Given the description of an element on the screen output the (x, y) to click on. 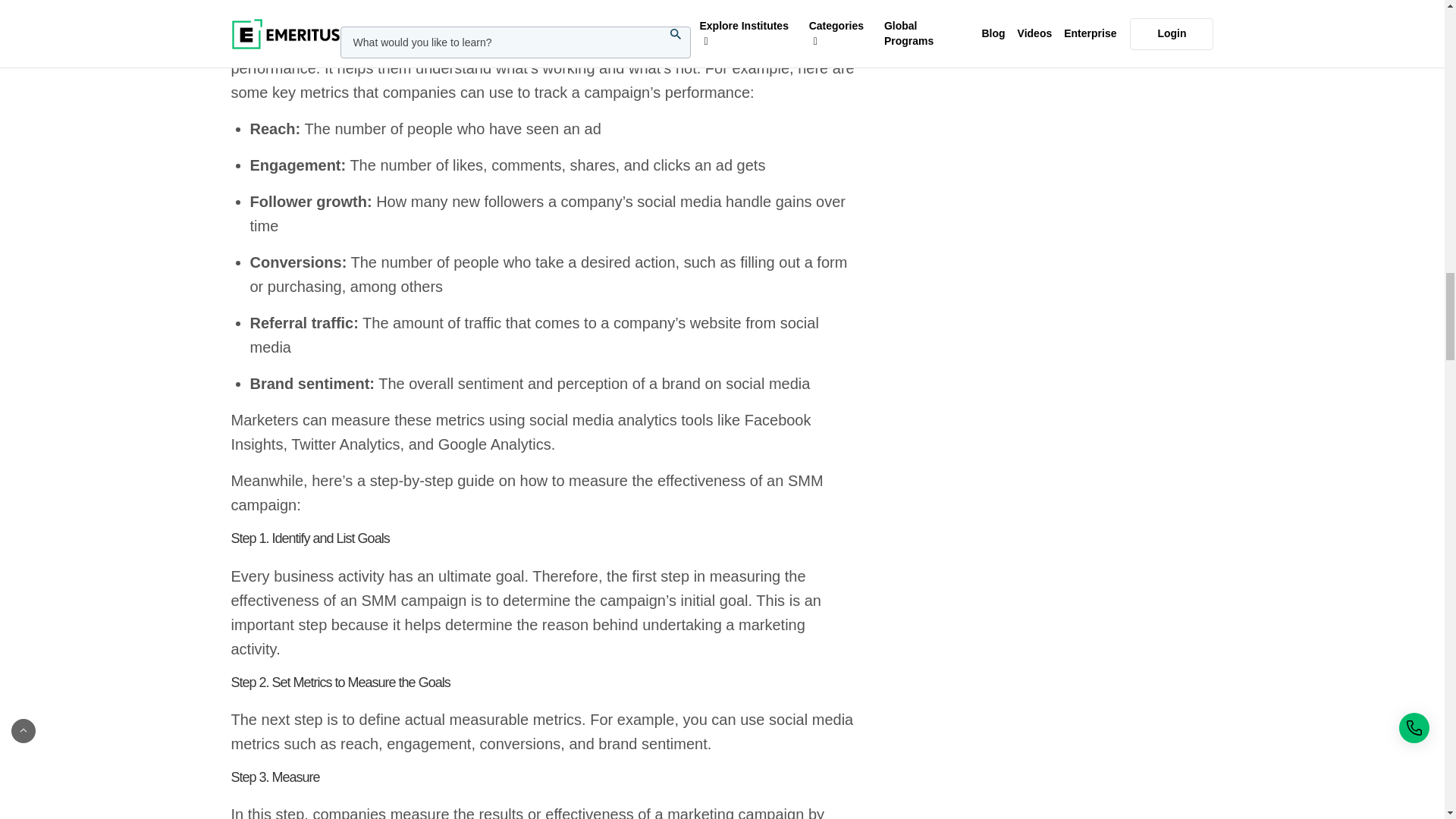
How to Measure the Success of Social Media Campaigns (543, 8)
